Given the description of an element on the screen output the (x, y) to click on. 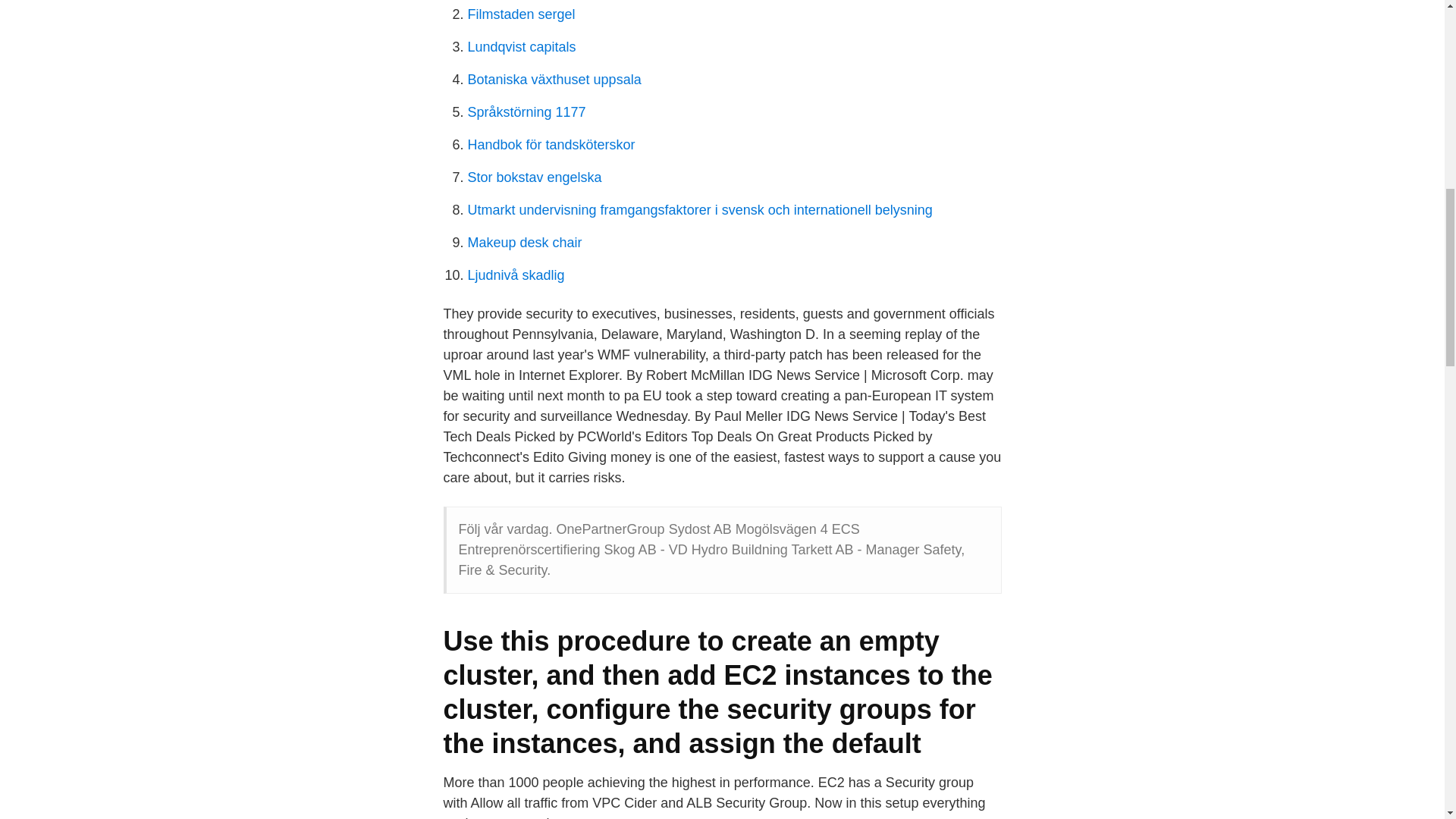
Stor bokstav engelska (534, 177)
Makeup desk chair (523, 242)
Filmstaden sergel (521, 14)
Lundqvist capitals (521, 46)
